Given the description of an element on the screen output the (x, y) to click on. 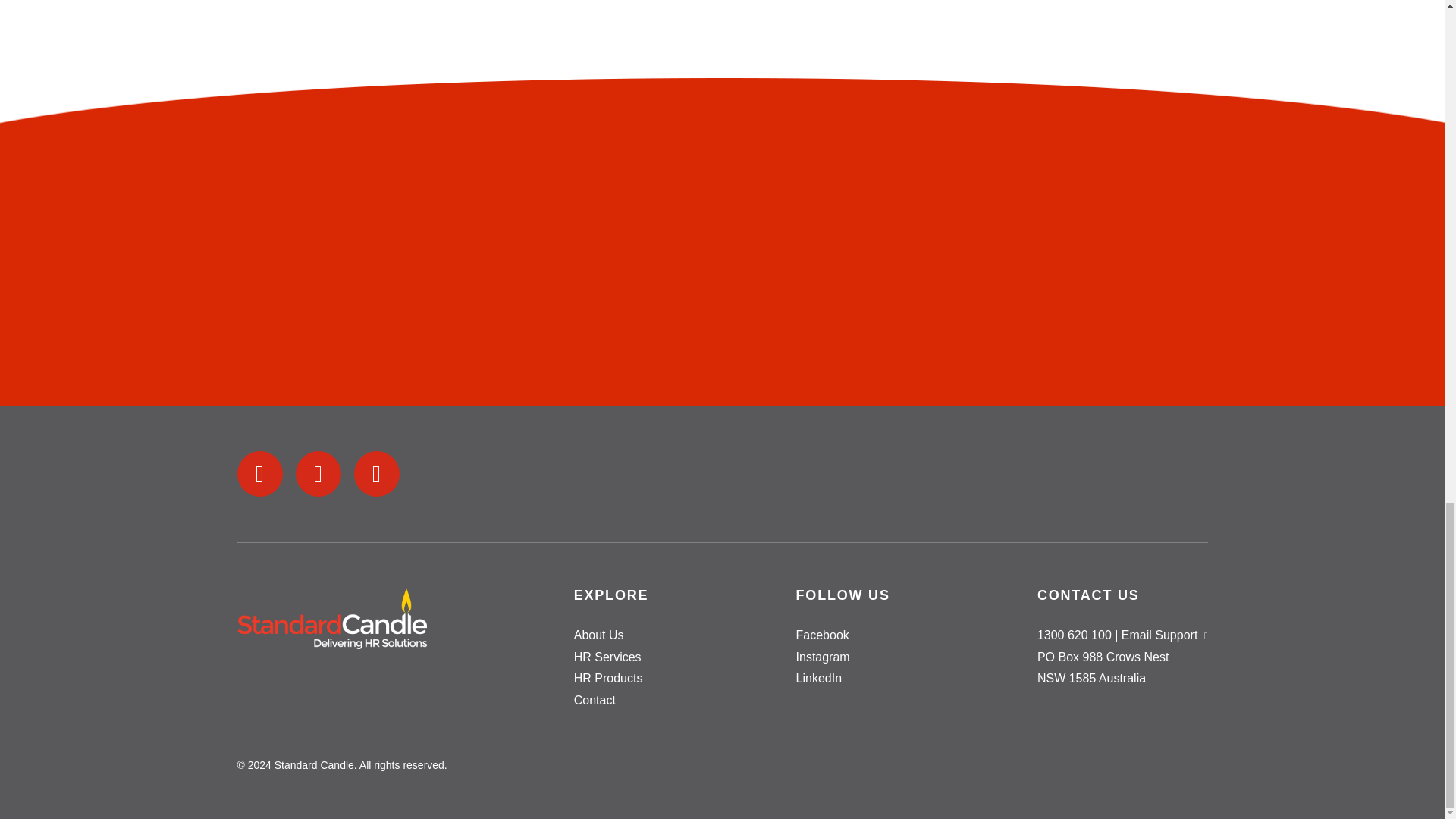
HR Services (607, 656)
Instagram (823, 656)
LinkedIn (819, 677)
Contact (594, 699)
HR Products (608, 677)
About Us (598, 634)
Facebook (822, 634)
